Given the description of an element on the screen output the (x, y) to click on. 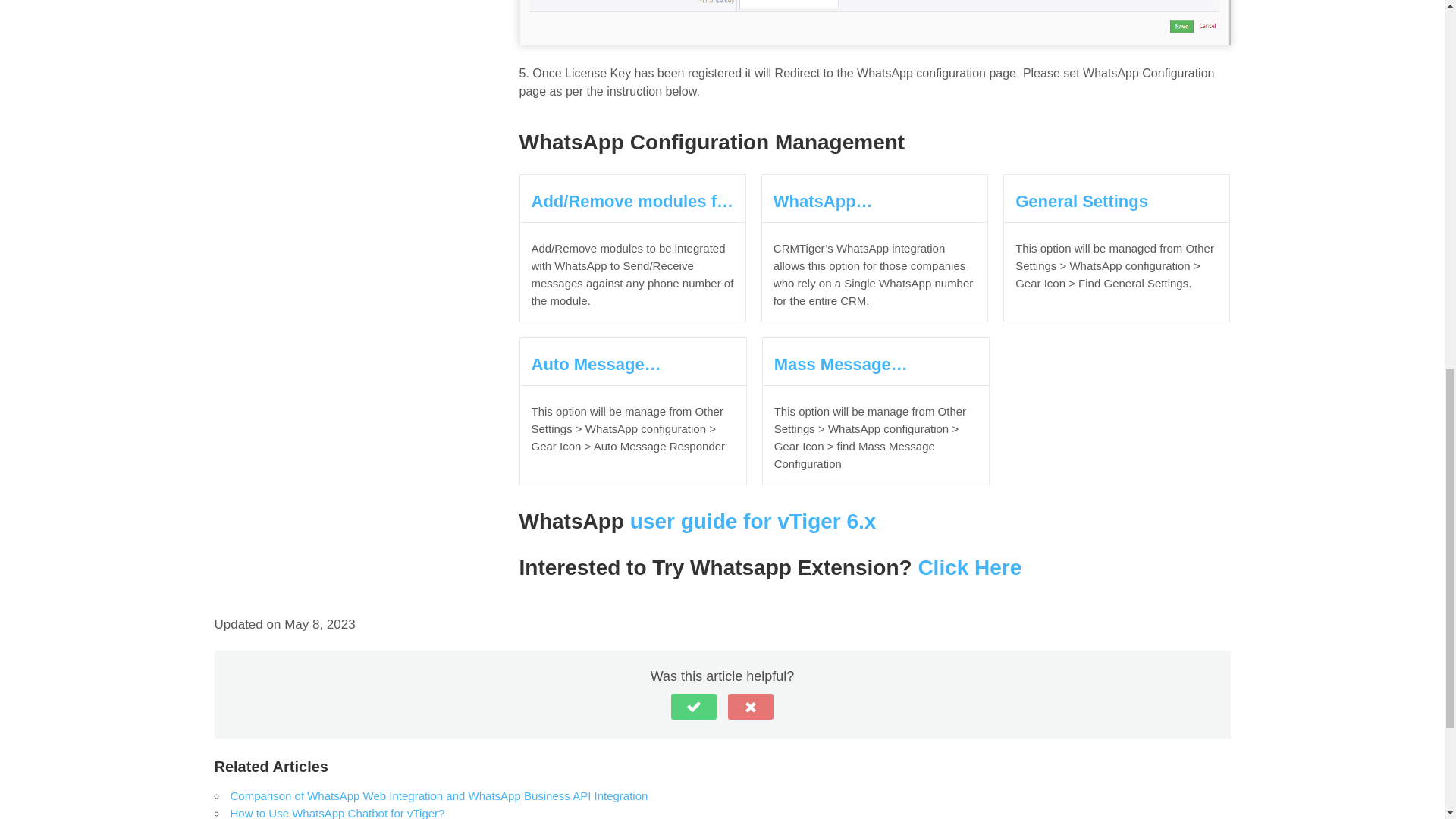
General Settings (1115, 200)
Auto Message Responder (632, 363)
user guide for vTiger 6.x (750, 521)
Click Here (969, 567)
Mass Message Configuration (875, 363)
How to Use WhatsApp Chatbot for vTiger? (337, 812)
